Given the description of an element on the screen output the (x, y) to click on. 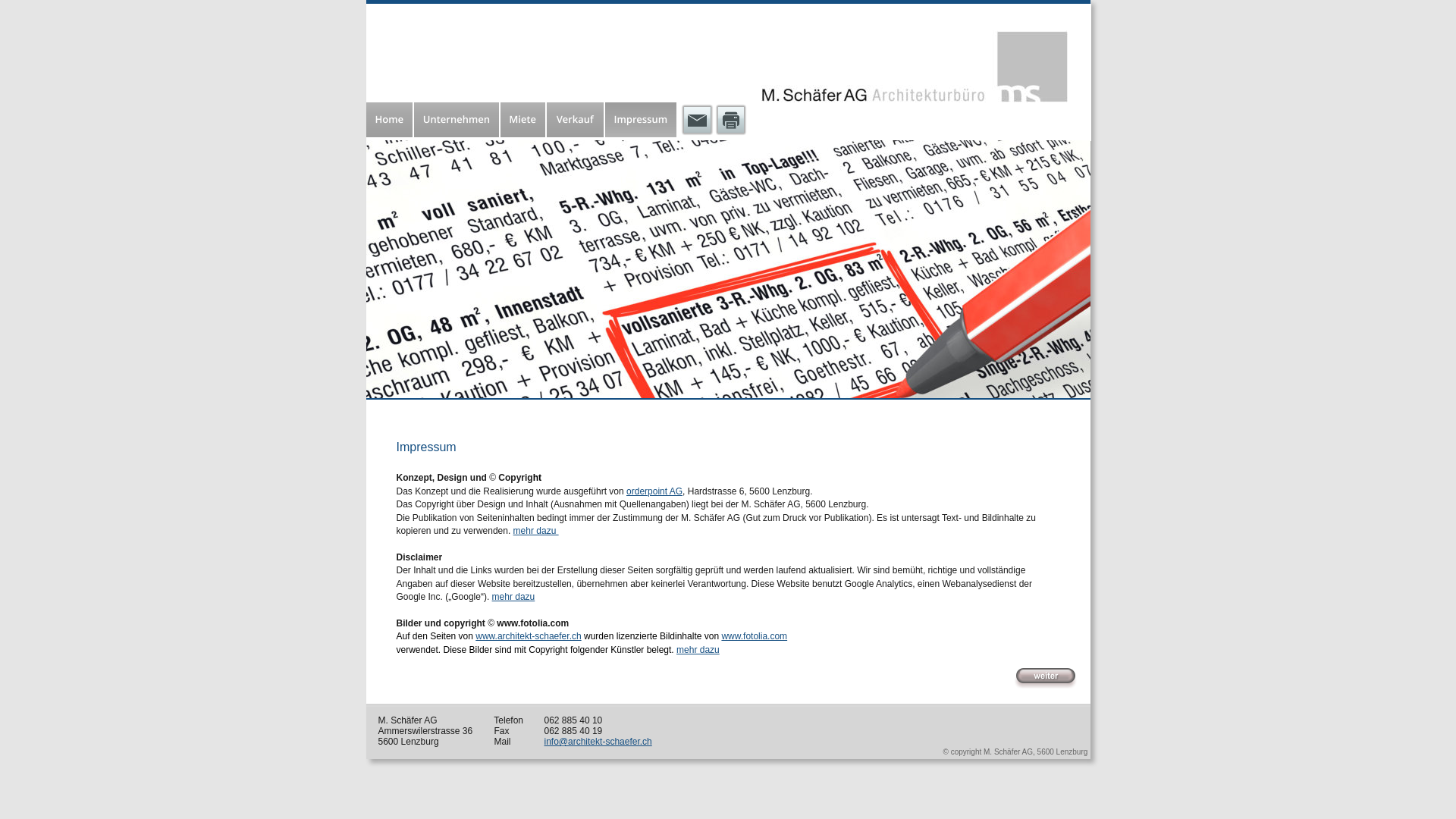
mehr dazu Element type: text (697, 649)
info@architekt-schaefer.ch Element type: text (598, 741)
mehr dazu  Element type: text (535, 530)
orderpoint AG Element type: text (654, 491)
www.architekt-schaefer.ch Element type: text (527, 635)
www.fotolia.com Element type: text (754, 635)
mehr dazu Element type: text (513, 596)
